Given the description of an element on the screen output the (x, y) to click on. 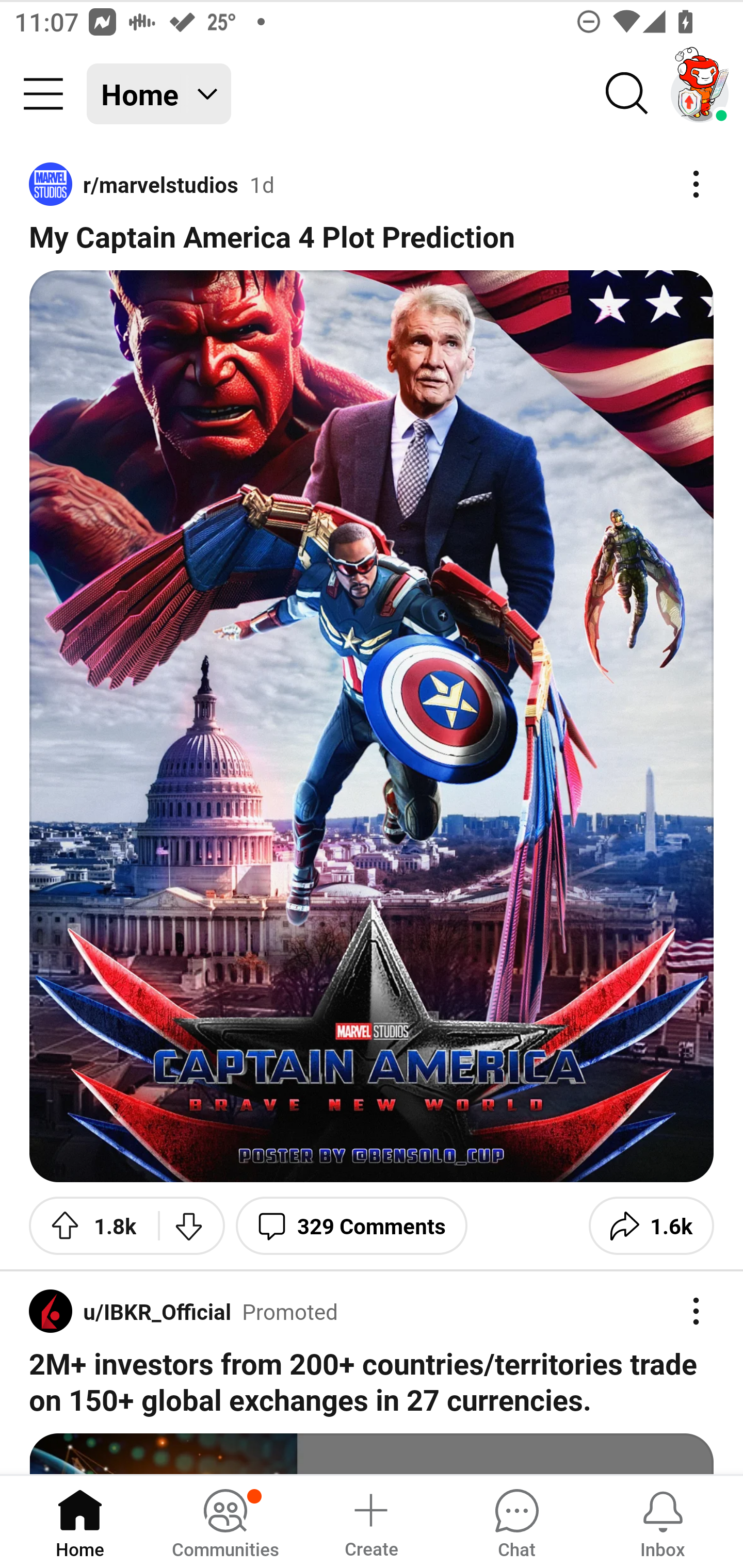
Community menu (43, 93)
Home Home feed (158, 93)
Search (626, 93)
TestAppium002 account (699, 93)
Home (80, 1520)
Communities, has notifications Communities (225, 1520)
Create a post Create (370, 1520)
Chat (516, 1520)
Inbox (662, 1520)
